Given the description of an element on the screen output the (x, y) to click on. 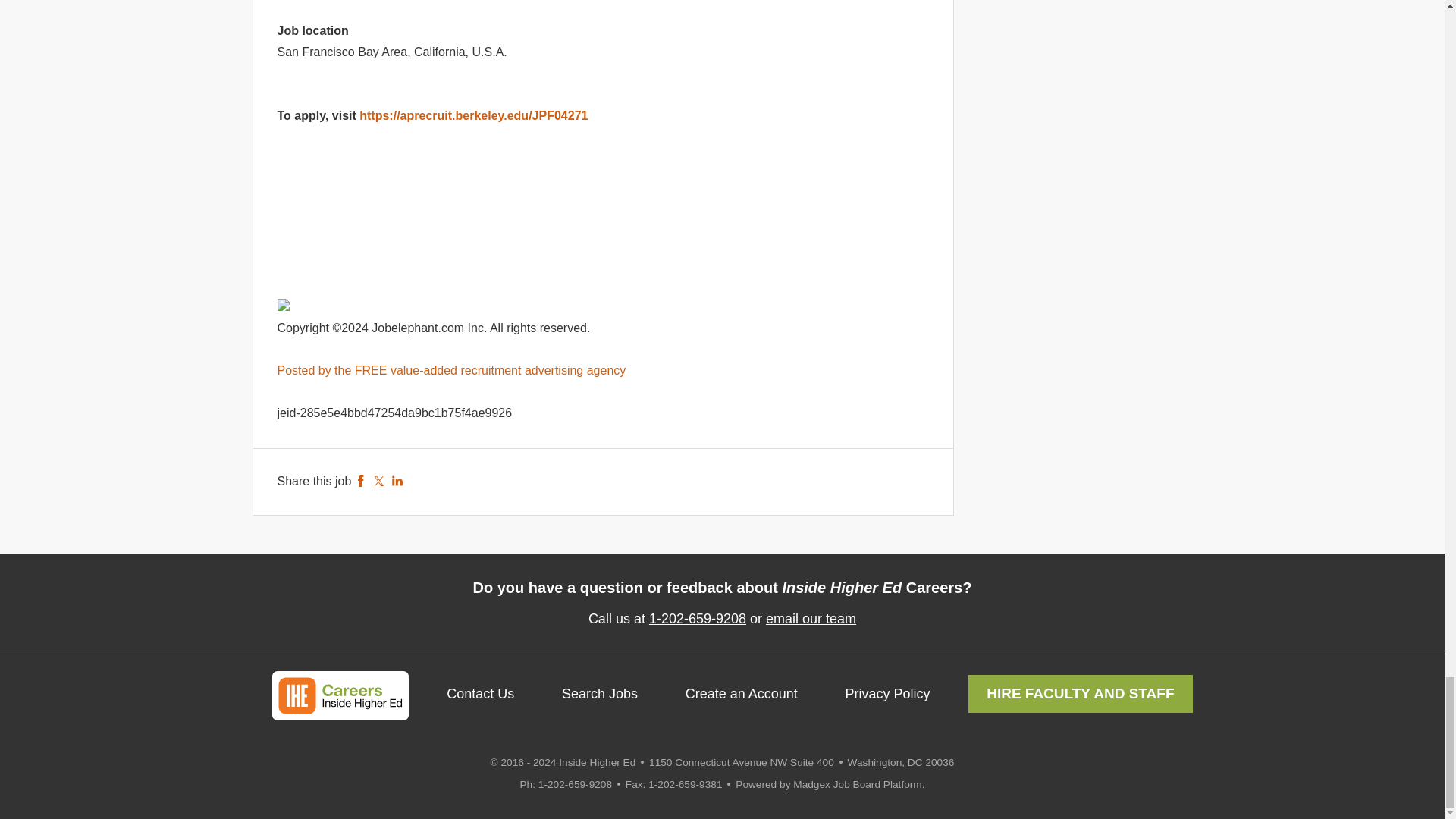
LinkedIn (397, 481)
Facebook (360, 481)
Inside Higher Ed Careers (338, 695)
Twitter (378, 481)
